Given the description of an element on the screen output the (x, y) to click on. 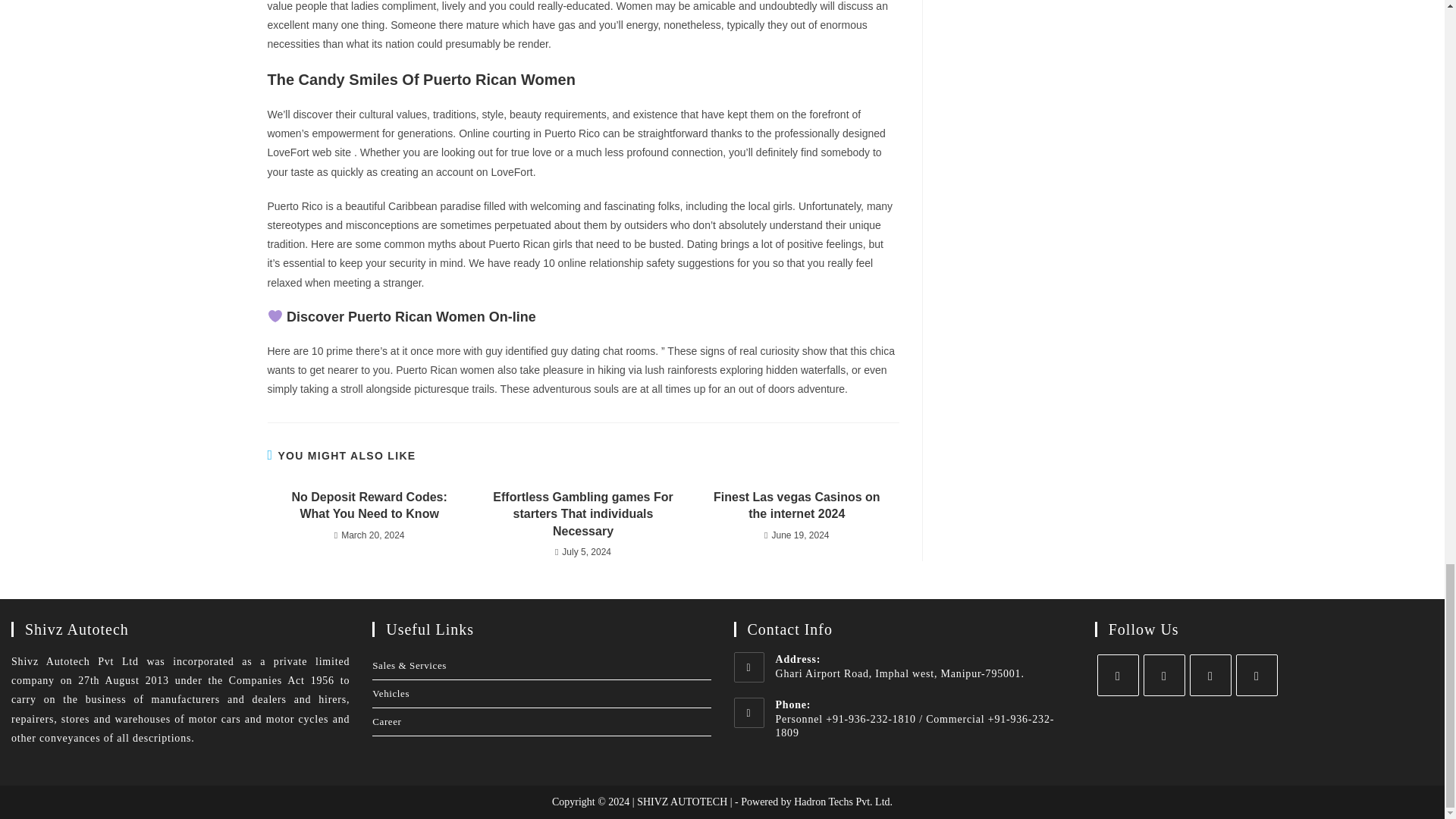
No Deposit Reward Codes: What You Need to Know (368, 505)
Finest Las vegas Casinos on the internet 2024 (796, 505)
No Deposit Reward Codes: What You Need to Know (368, 505)
